Given the description of an element on the screen output the (x, y) to click on. 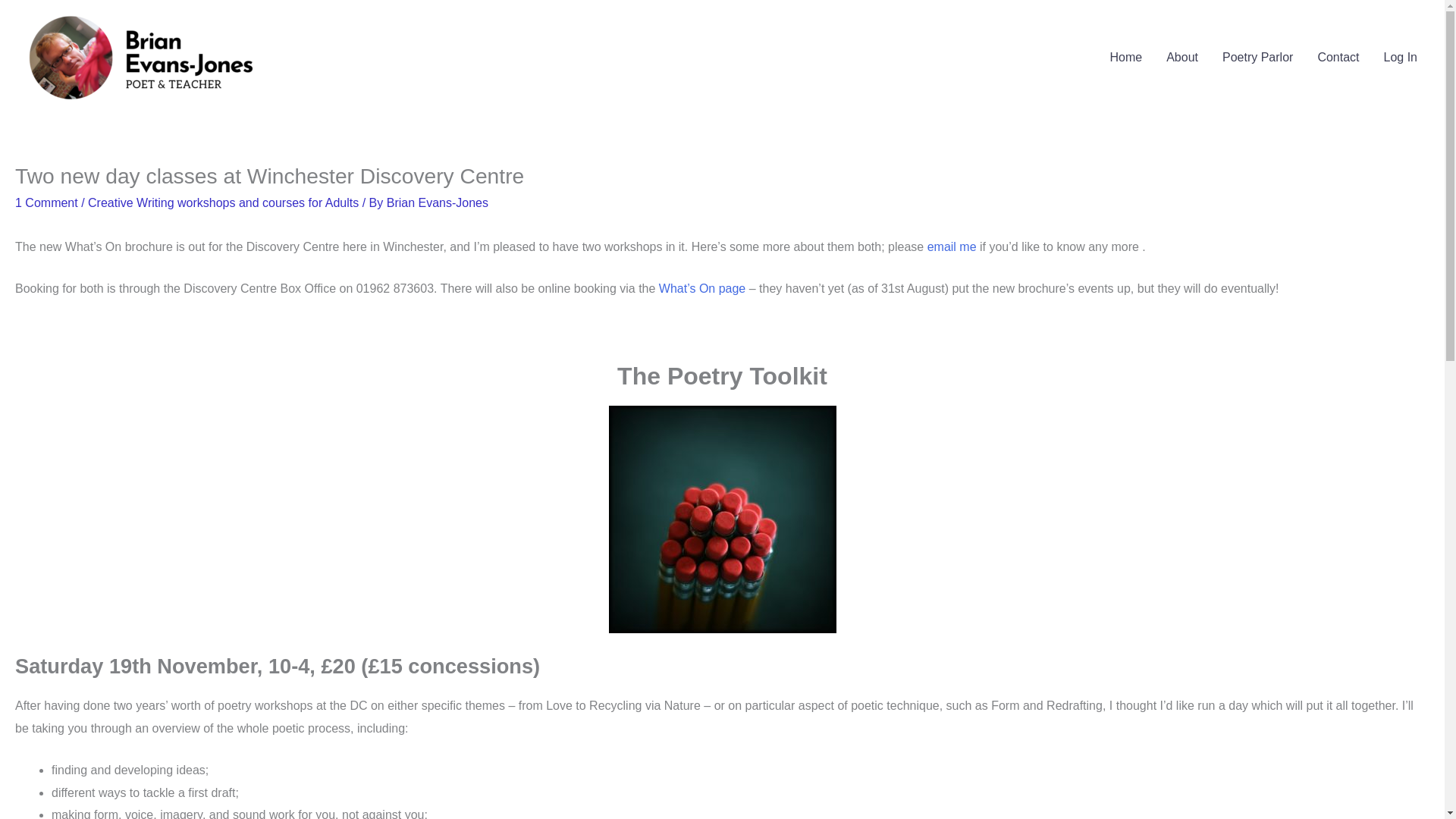
Home (1125, 57)
Contact (1337, 57)
Poetry Tools image (721, 519)
Brian Evans-Jones (437, 202)
About (1181, 57)
Creative Writing workshops and courses for Adults (222, 202)
1 Comment (46, 202)
Log In (1400, 57)
email me (951, 246)
View all posts by Brian Evans-Jones (437, 202)
Poetry Parlor (1256, 57)
